Given the description of an element on the screen output the (x, y) to click on. 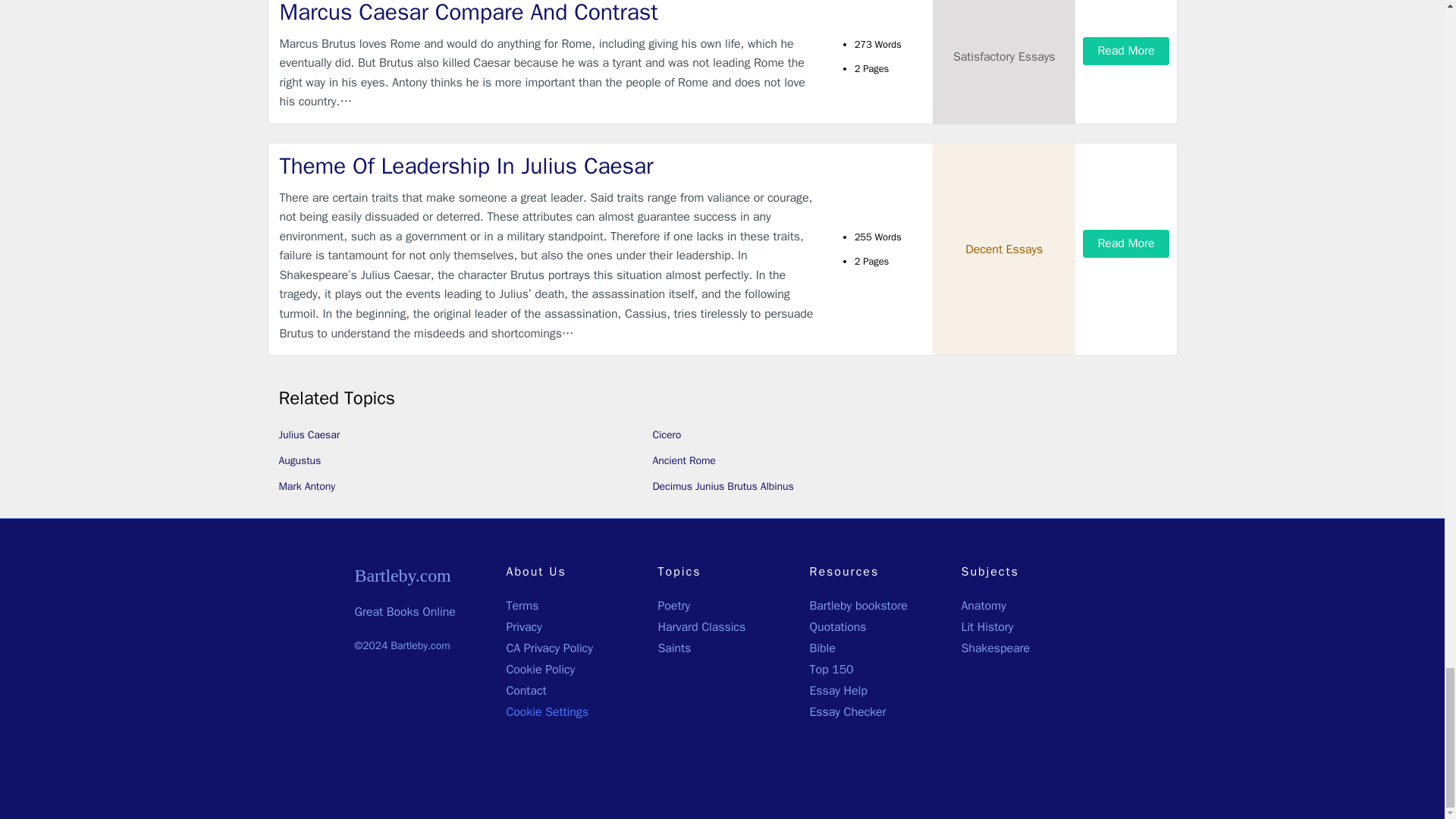
Ancient Rome (683, 460)
Decimus Junius Brutus Albinus (722, 486)
Julius Caesar (309, 434)
Cicero (666, 434)
Mark Antony (306, 486)
Augustus (300, 460)
